Given the description of an element on the screen output the (x, y) to click on. 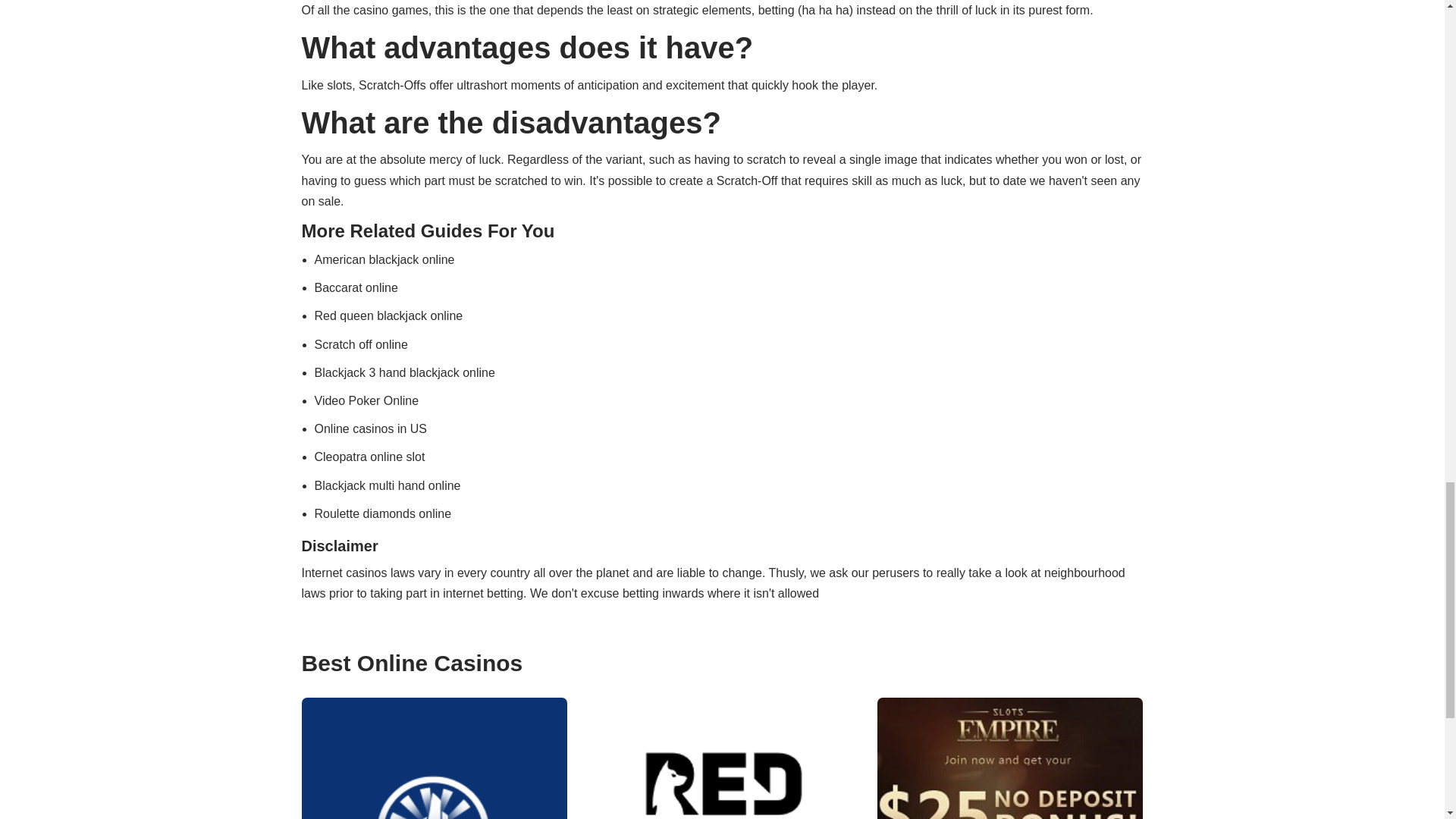
Red queen blackjack online (388, 315)
American blackjack online (384, 259)
Blackjack 3 hand blackjack online (404, 372)
Scratch off online (360, 344)
Baccarat online (355, 287)
Cleopatra online slot (369, 456)
Roulette diamonds online (382, 513)
Online casinos in US (370, 428)
Video Poker Online (366, 400)
Blackjack multi hand online (387, 485)
